Given the description of an element on the screen output the (x, y) to click on. 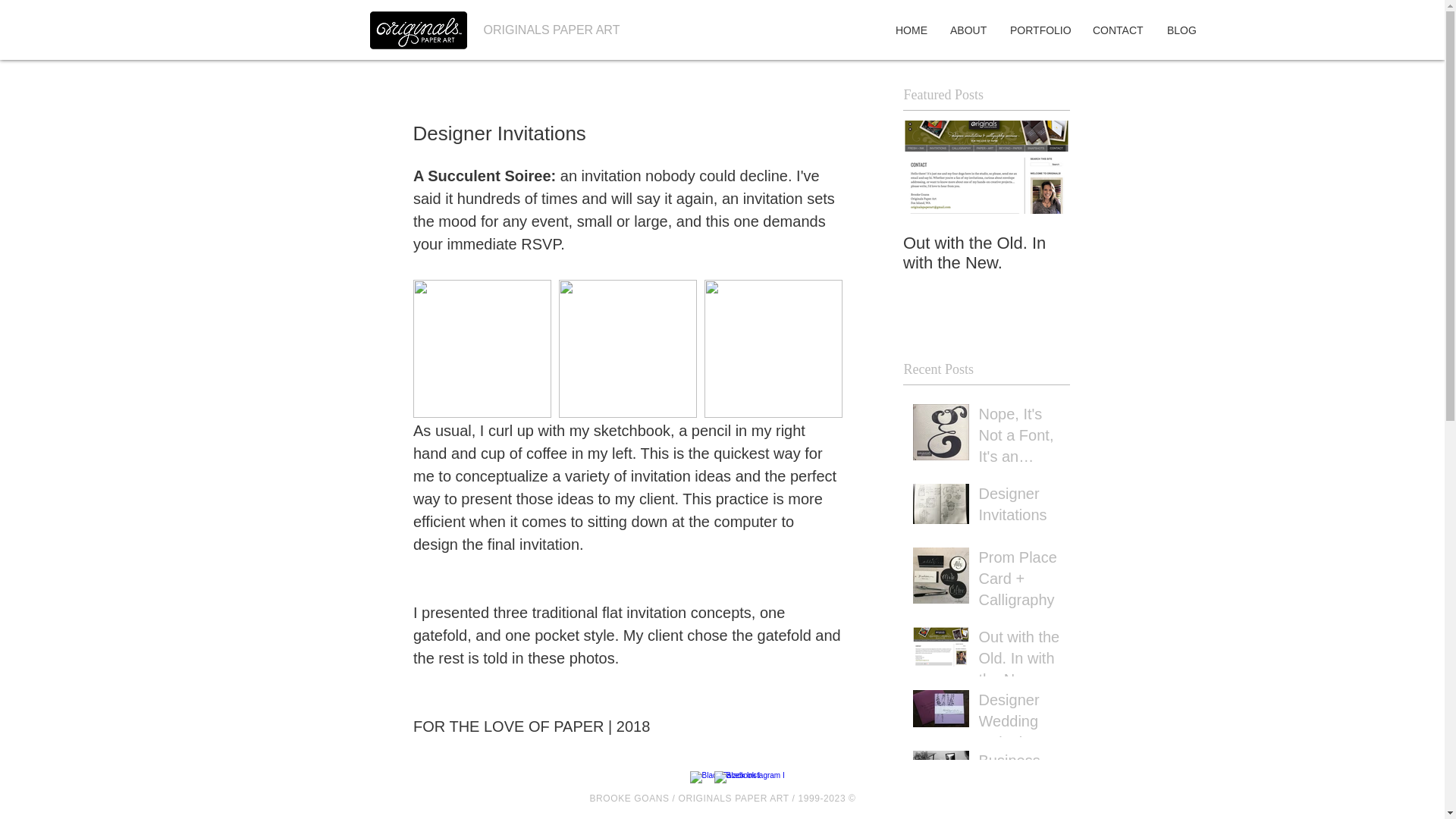
HOME (911, 30)
BLOG (1181, 30)
Custom Logo Design (1018, 814)
Out with the Old. In with the New. (1018, 661)
Out with the Old. In with the New. (985, 252)
CONTACT (1118, 30)
PORTFOLIO (1039, 30)
Designer Invitations (1018, 507)
Nope, It's Not a Font, It's an Original. (1018, 438)
Designer Wedding Invitation (1018, 724)
